Given the description of an element on the screen output the (x, y) to click on. 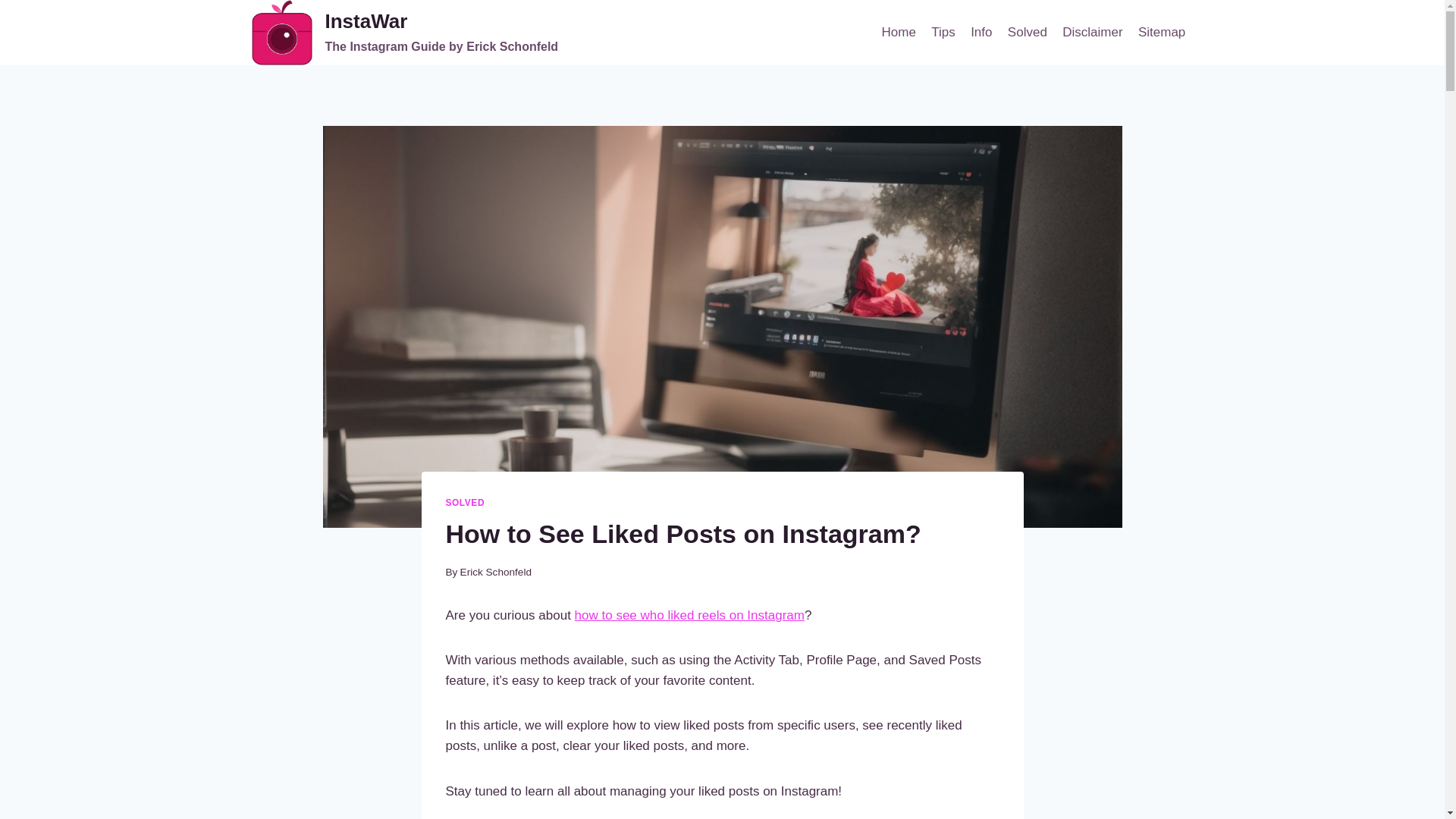
Info (981, 32)
Disclaimer (1092, 32)
SOLVED (464, 502)
how to see who liked reels on Instagram (690, 615)
Solved (1027, 32)
Tips (942, 32)
Sitemap (1162, 32)
Home (898, 32)
Erick Schonfeld (495, 572)
